Given the description of an element on the screen output the (x, y) to click on. 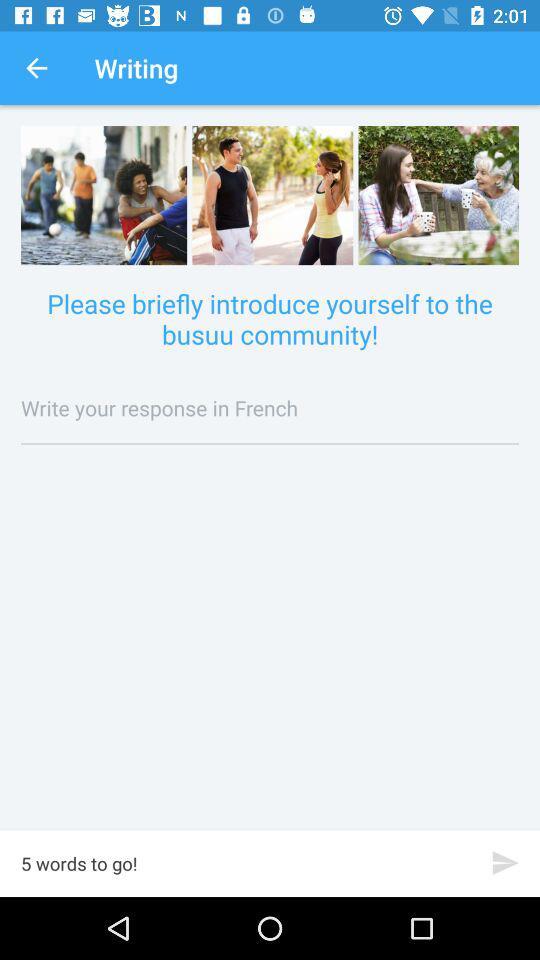
turn on item below please briefly introduce icon (270, 407)
